Given the description of an element on the screen output the (x, y) to click on. 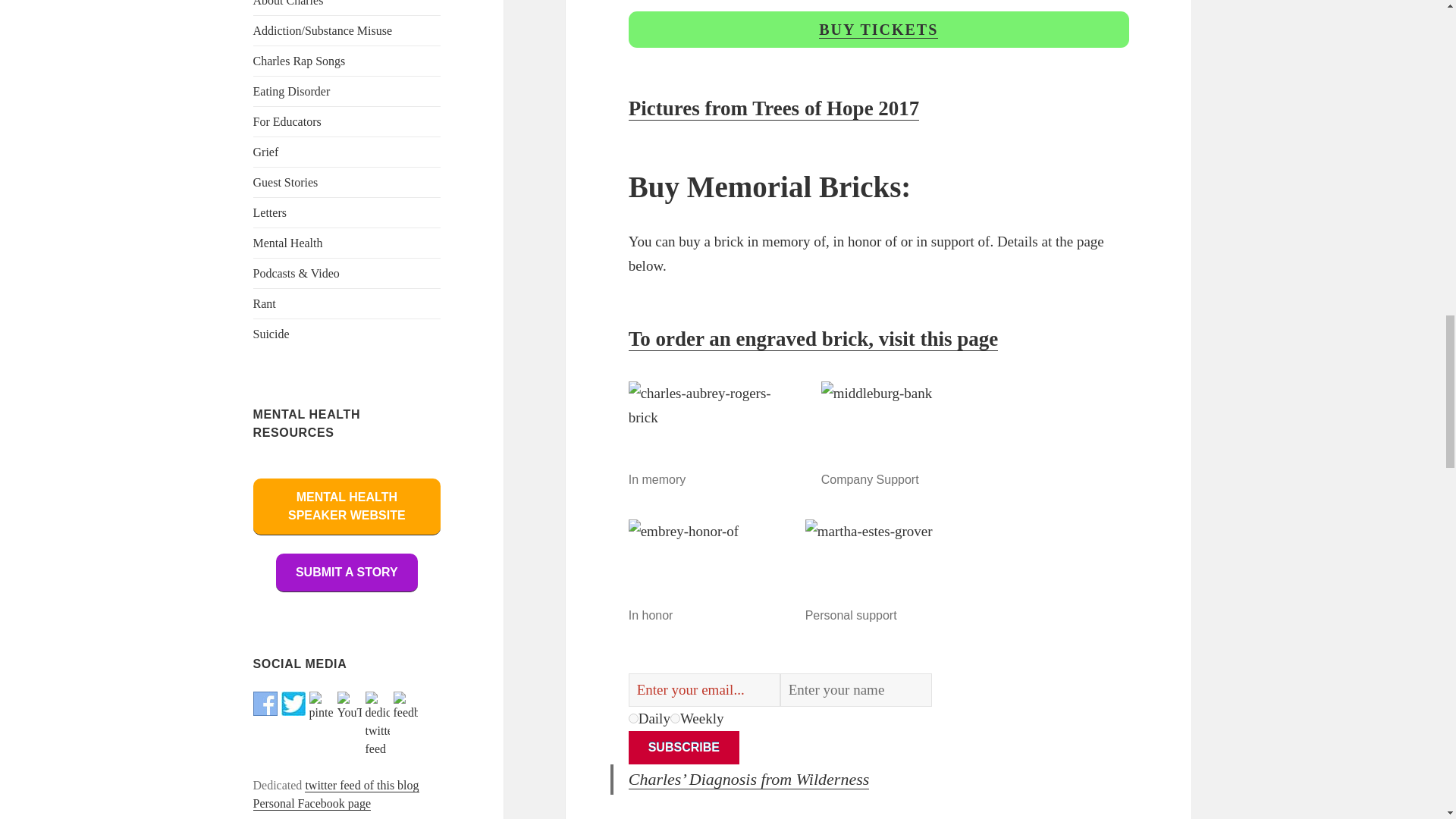
Enter your email... (704, 689)
2 (674, 718)
Subscribe (683, 747)
Enter your name (855, 689)
1 (633, 718)
